Given the description of an element on the screen output the (x, y) to click on. 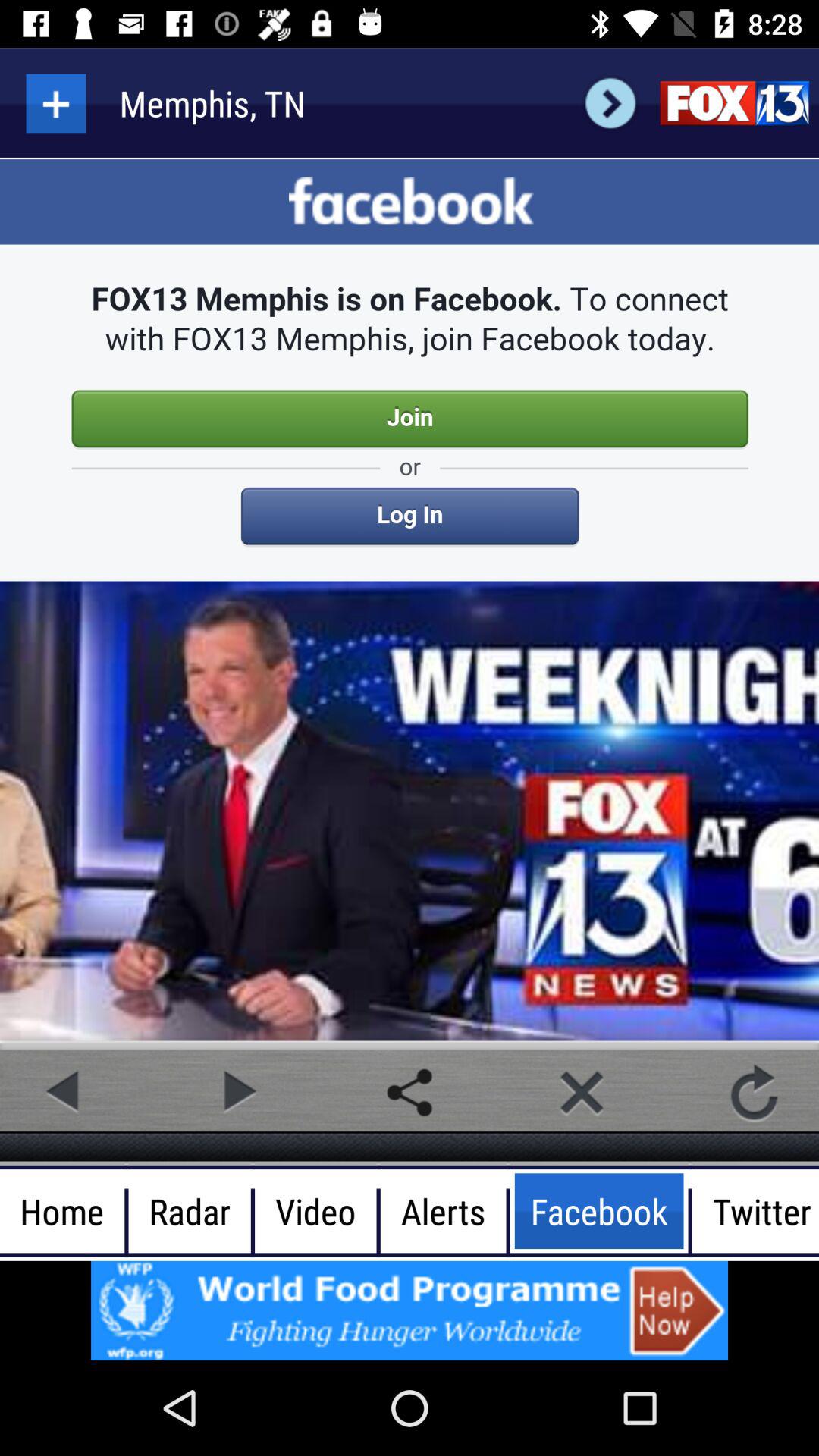
view advertisements (409, 1310)
